Given the description of an element on the screen output the (x, y) to click on. 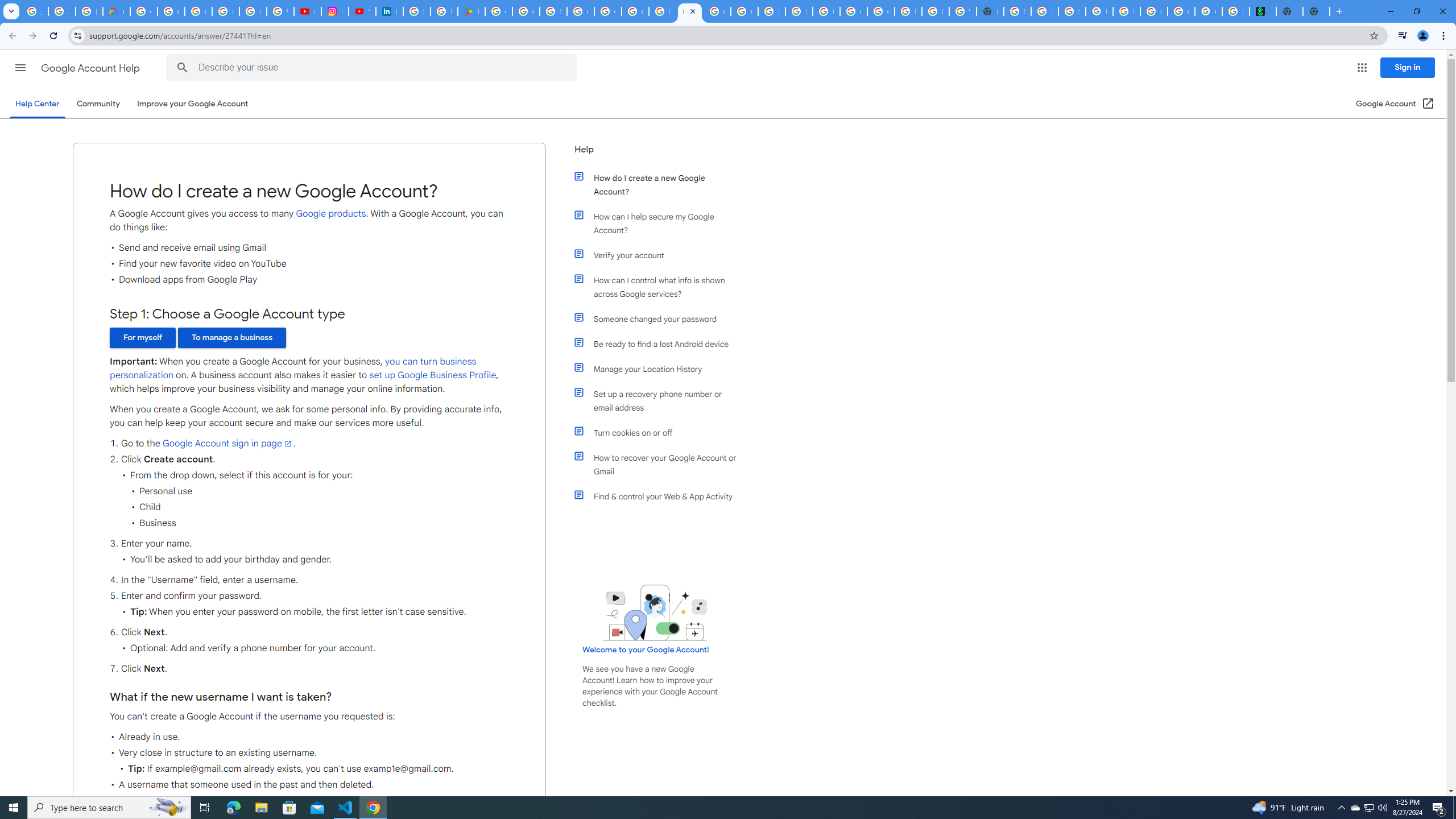
Sign in - Google Accounts (553, 11)
Google apps (1362, 67)
Browse Chrome as a guest - Computer - Google Chrome Help (771, 11)
set up Google Business Profile (432, 374)
Be ready to find a lost Android device (661, 343)
Google Workspace - Specific Terms (525, 11)
Set up a recovery phone number or email address (661, 400)
How can I help secure my Google Account? (661, 223)
